Given the description of an element on the screen output the (x, y) to click on. 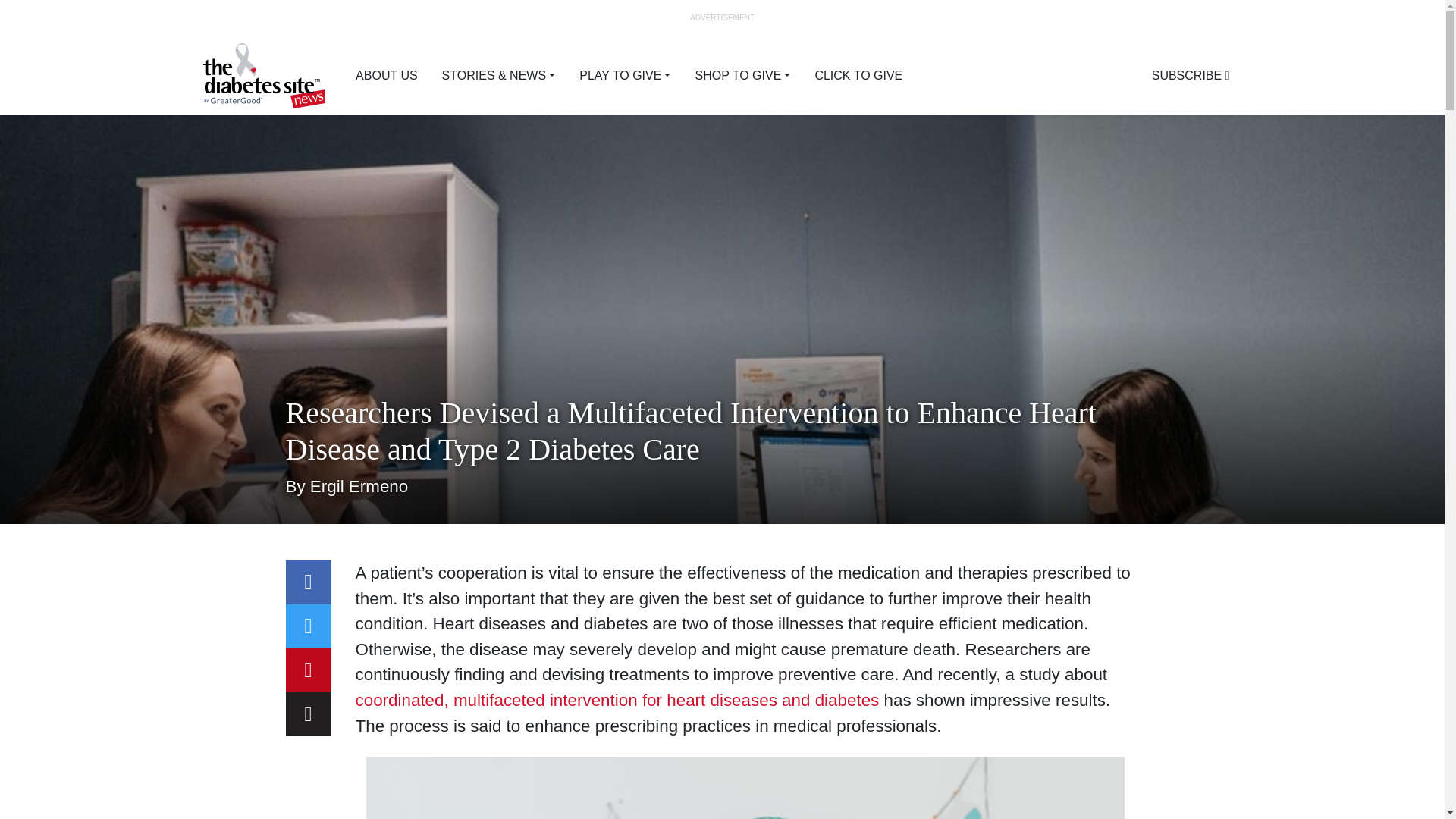
CLICK TO GIVE (858, 75)
SHOP TO GIVE (742, 75)
Ergil Ermeno (358, 486)
SUBSCRIBE (1190, 75)
ABOUT US (386, 75)
PLAY TO GIVE (624, 75)
